Given the description of an element on the screen output the (x, y) to click on. 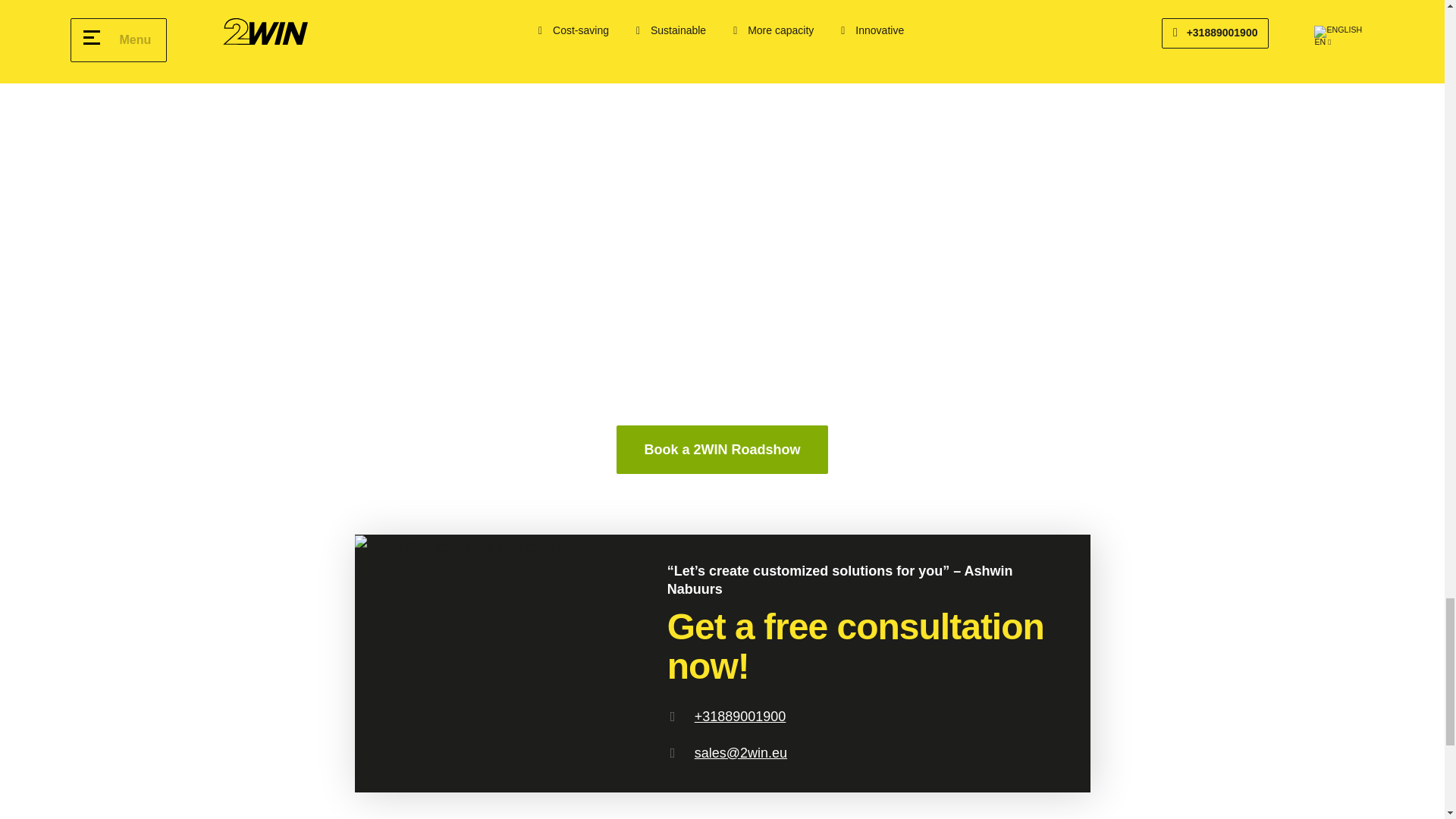
Book a 2WIN Roadshow (721, 449)
